Given the description of an element on the screen output the (x, y) to click on. 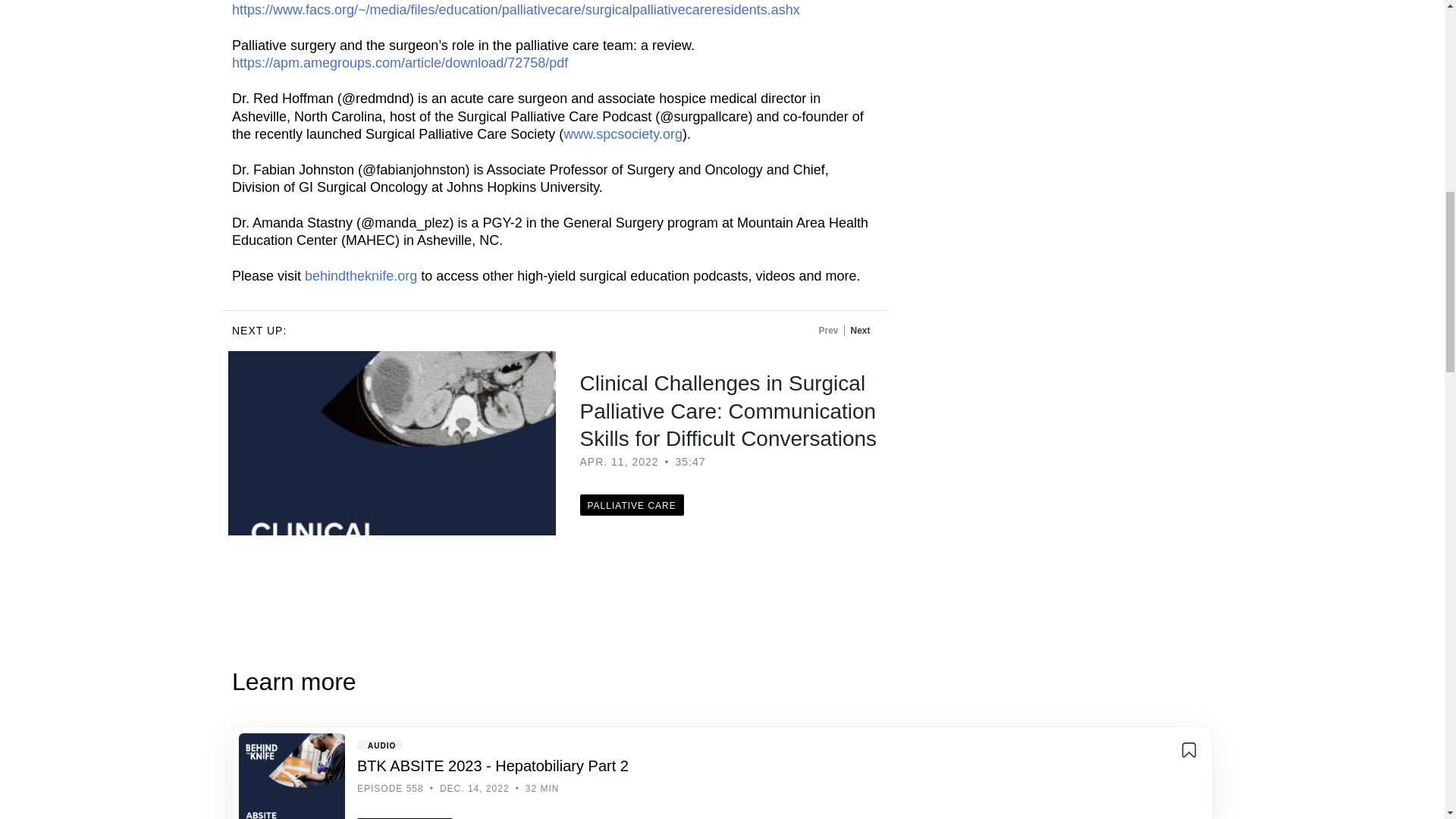
www.spcsociety.org (622, 133)
BTK ABSITE 2023 - Hepatobiliary Part 2 (291, 776)
behindtheknife.org (360, 275)
